Given the description of an element on the screen output the (x, y) to click on. 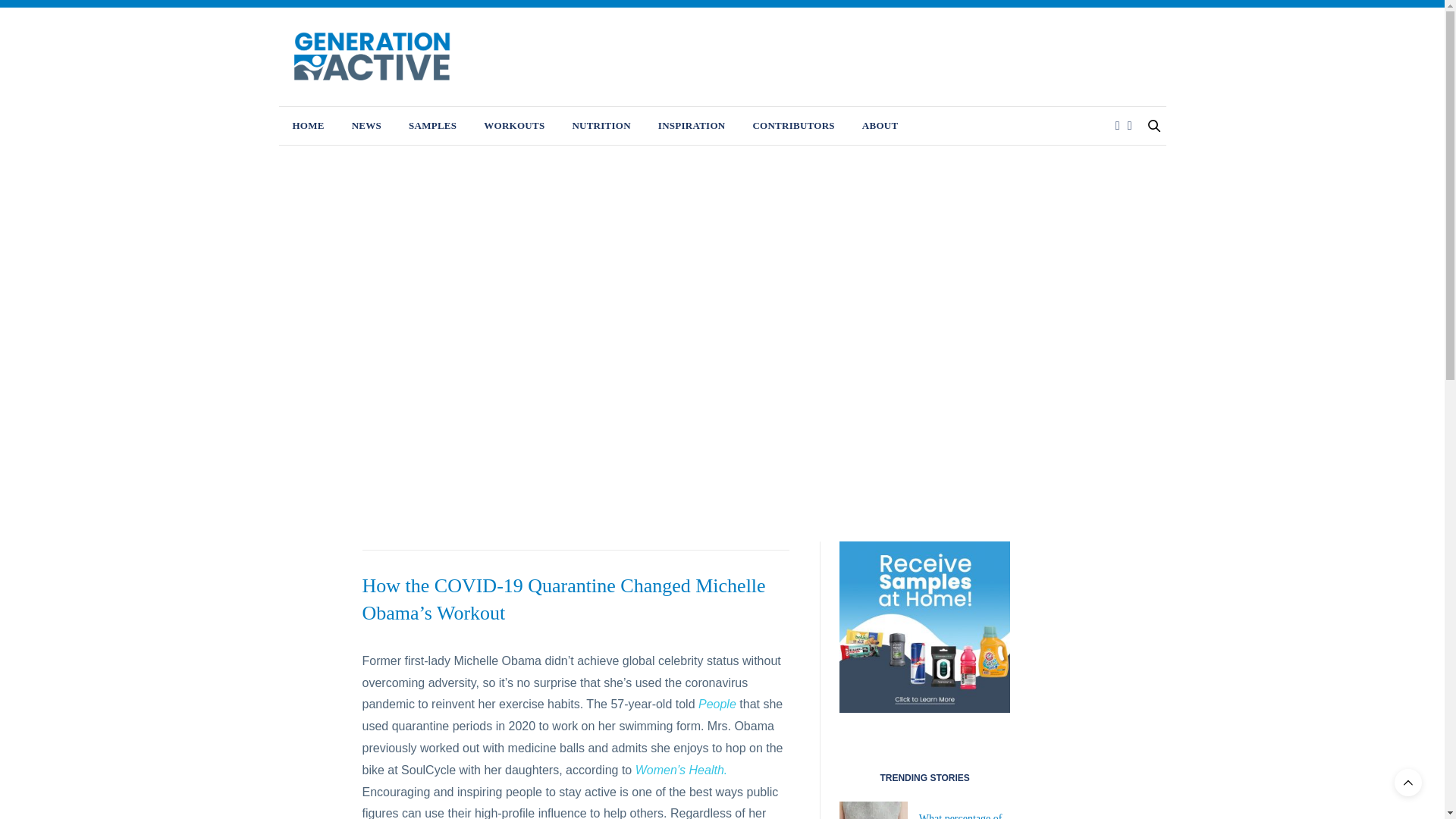
What percentage of U.S. adults have good heart health? (960, 816)
NUTRITION (601, 125)
WORKOUTS (513, 125)
ABOUT (879, 125)
What percentage of U.S. adults have good heart health? (960, 816)
SAMPLES (433, 125)
INSPIRATION (691, 125)
Generation Active (372, 56)
CONTRIBUTORS (793, 125)
What percentage of U.S. adults have good heart health? (879, 810)
People (717, 703)
